Given the description of an element on the screen output the (x, y) to click on. 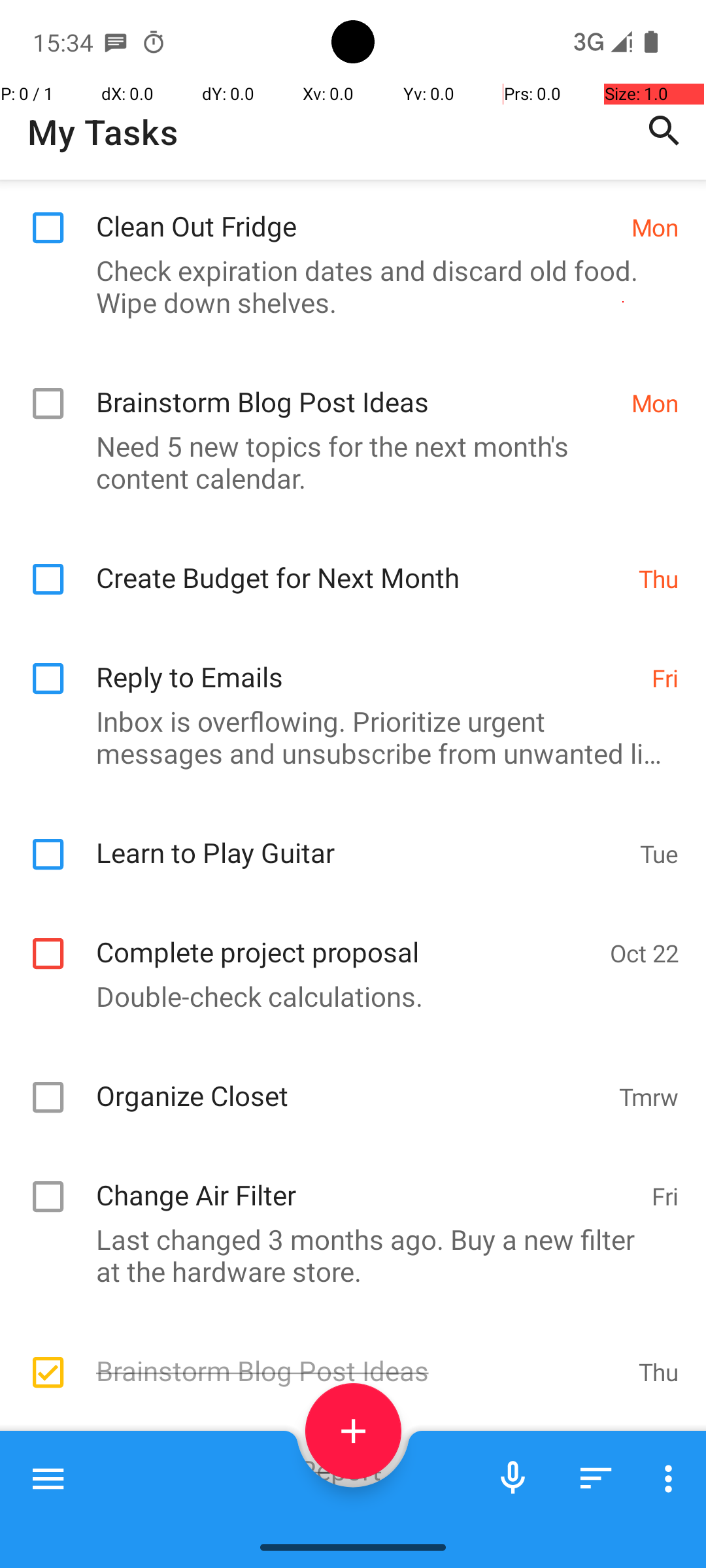
Complete project proposal Element type: android.widget.TextView (346, 937)
Double-check calculations. Element type: android.widget.TextView (346, 995)
